Given the description of an element on the screen output the (x, y) to click on. 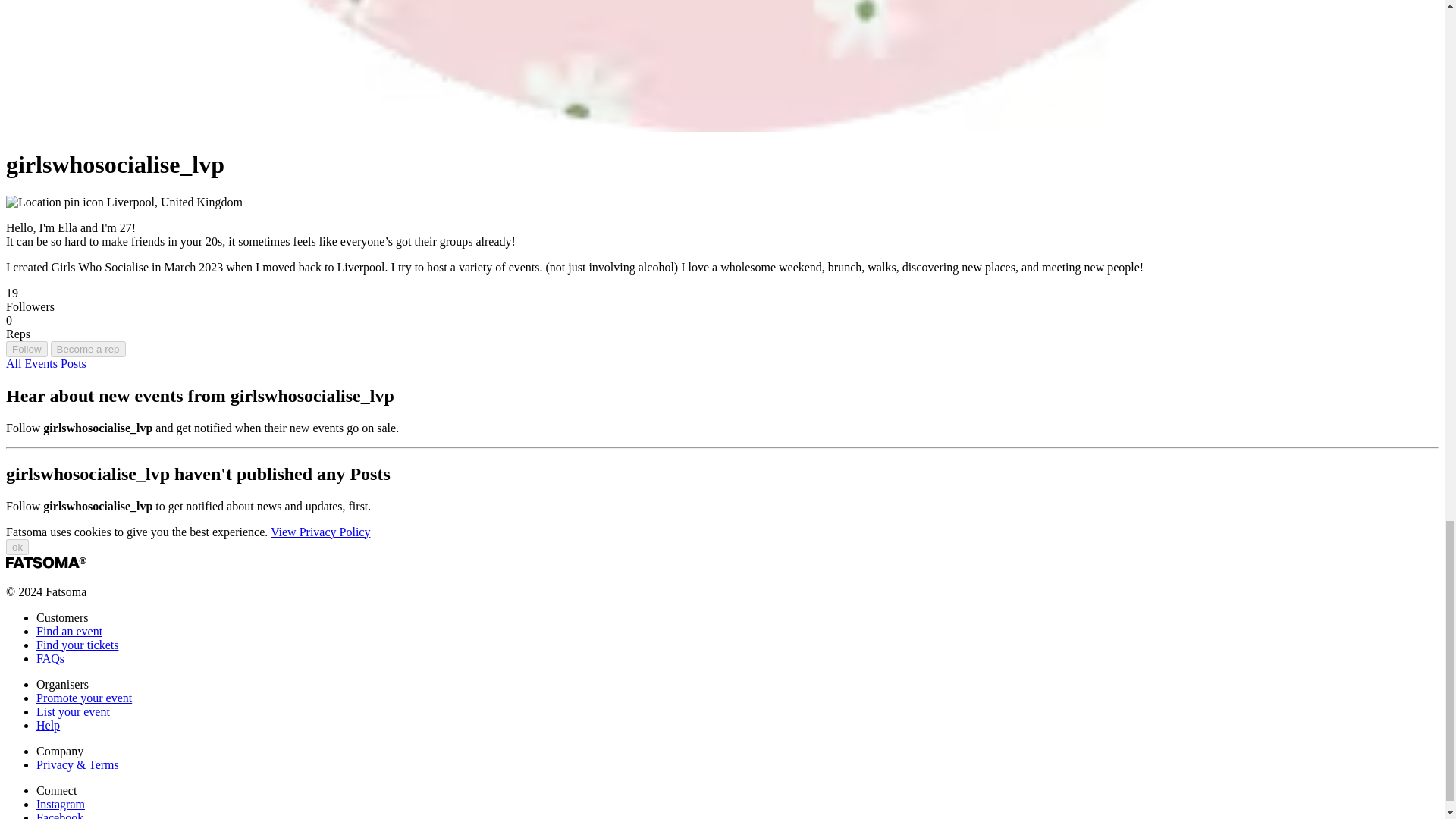
ok (17, 546)
FAQs (50, 658)
Find an event (68, 631)
Promote your event (84, 697)
Follow (26, 349)
Find your tickets (76, 644)
Events (42, 363)
List your event (73, 711)
Fatsoma (45, 562)
Posts (73, 363)
